Given the description of an element on the screen output the (x, y) to click on. 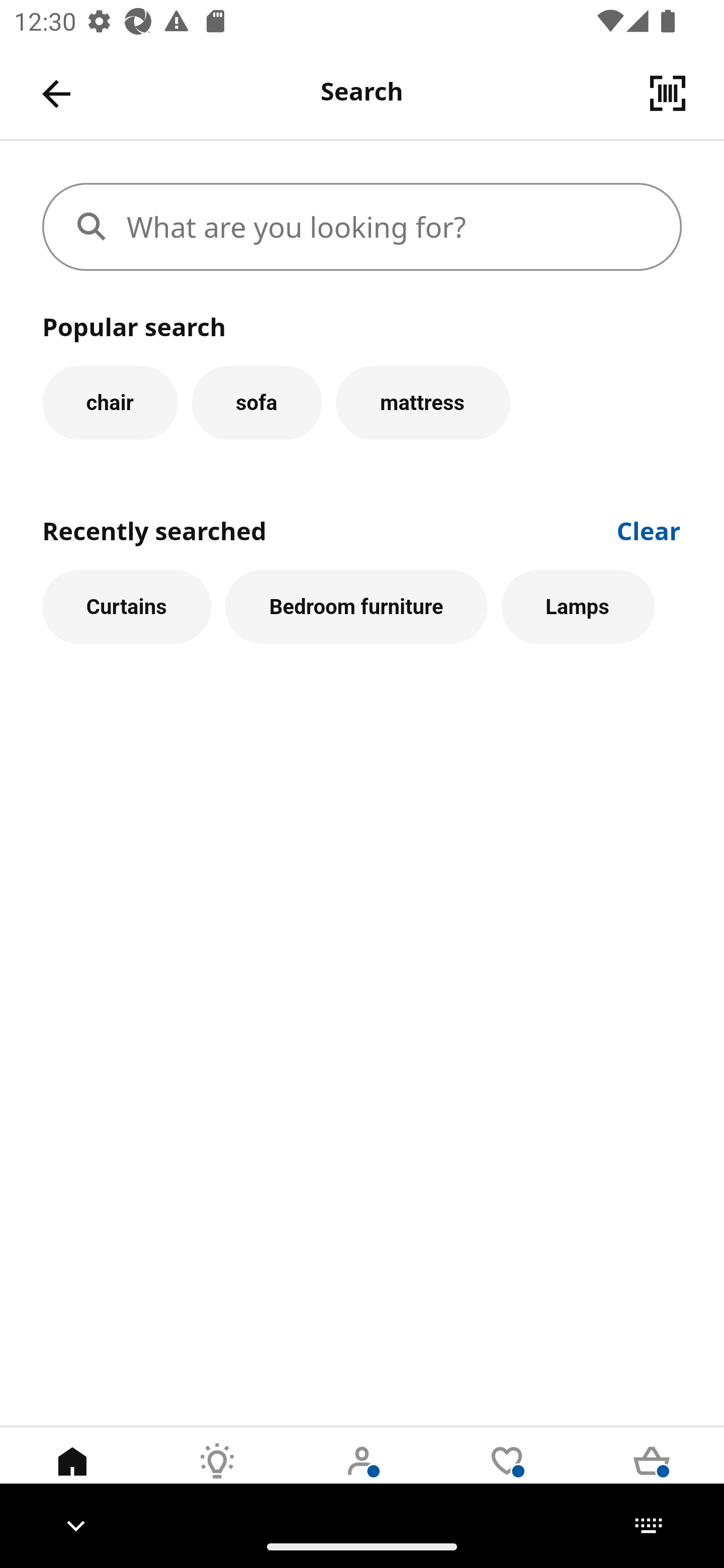
chair (109, 402)
sofa (256, 402)
mattress (423, 402)
Clear (649, 528)
Curtains (126, 606)
Bedroom furniture (356, 606)
Lamps (577, 606)
Home
Tab 1 of 5 (72, 1476)
Inspirations
Tab 2 of 5 (216, 1476)
User
Tab 3 of 5 (361, 1476)
Wishlist
Tab 4 of 5 (506, 1476)
Cart
Tab 5 of 5 (651, 1476)
